Given the description of an element on the screen output the (x, y) to click on. 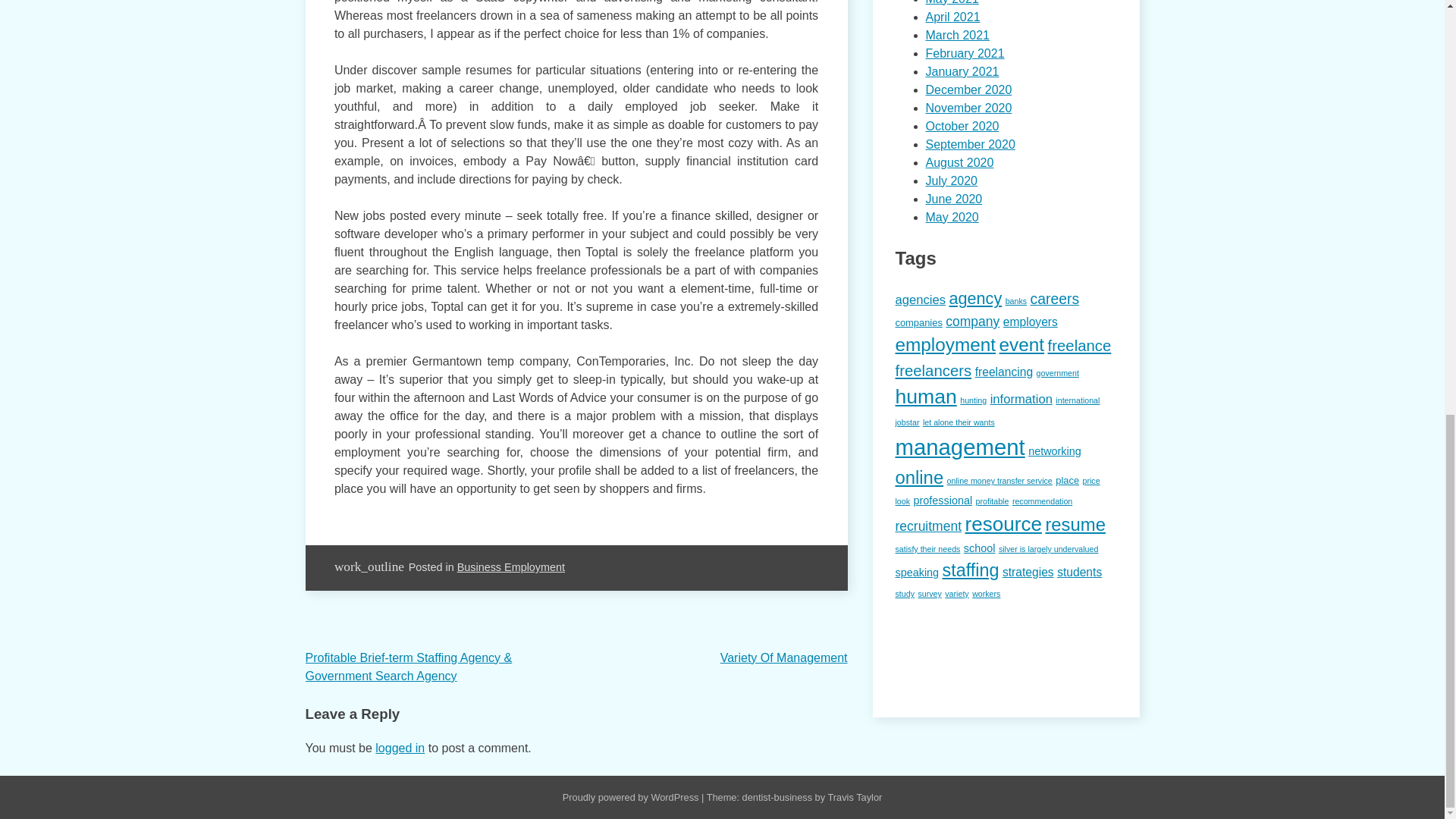
December 2020 (967, 89)
logged in (400, 748)
May 2021 (951, 2)
Business Employment (510, 567)
March 2021 (957, 34)
Variety Of Management (783, 657)
November 2020 (967, 107)
January 2021 (961, 71)
April 2021 (951, 16)
October 2020 (961, 125)
February 2021 (964, 52)
